Given the description of an element on the screen output the (x, y) to click on. 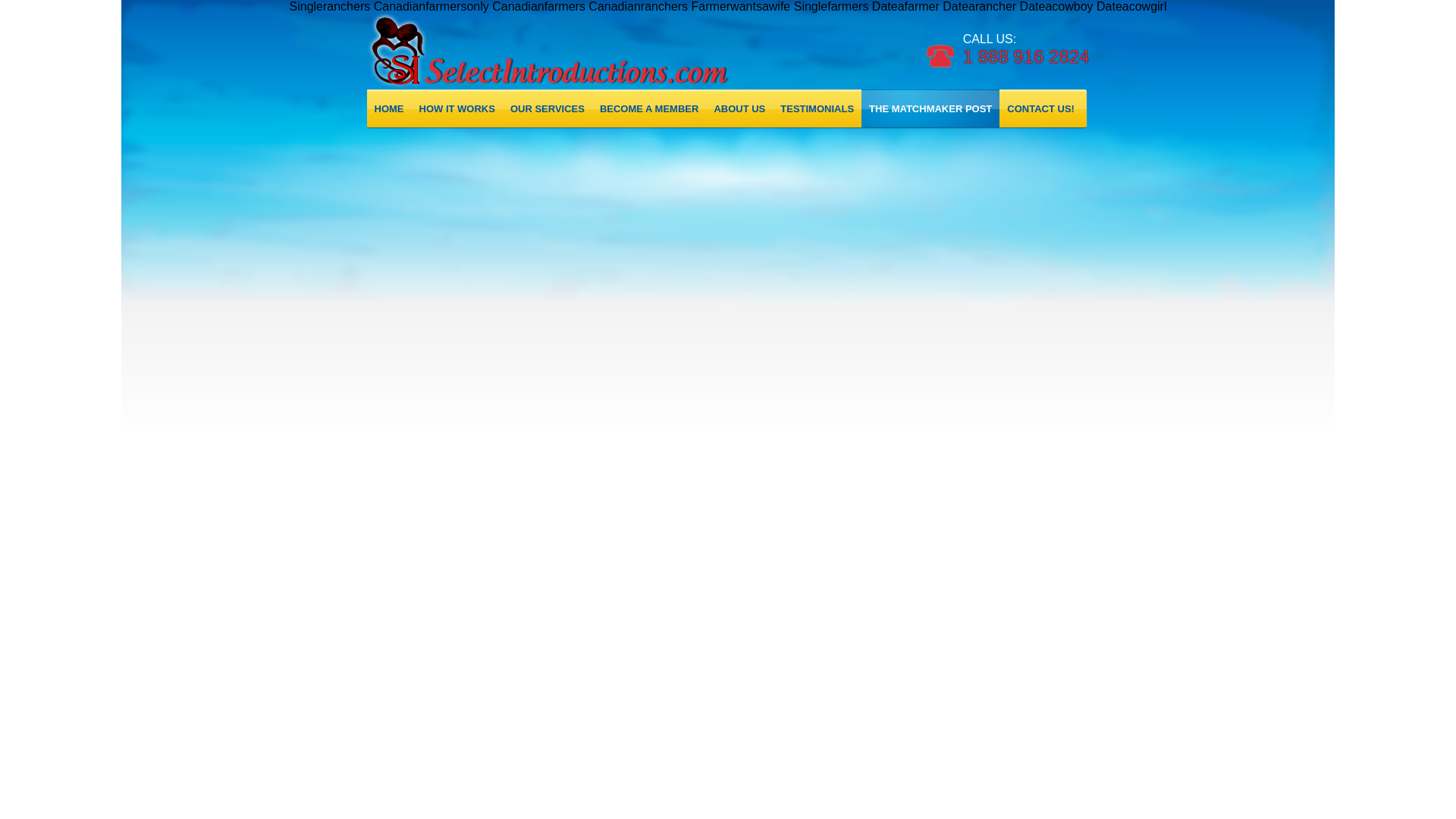
CONTACT US! (1039, 108)
OUR SERVICES (547, 108)
HOW IT WORKS (456, 108)
TESTIMONIALS (817, 108)
SelectIntroductions.com (576, 51)
BECOME A MEMBER (649, 108)
ABOUT US (739, 108)
HOME (389, 108)
THE MATCHMAKER POST (929, 108)
